Given the description of an element on the screen output the (x, y) to click on. 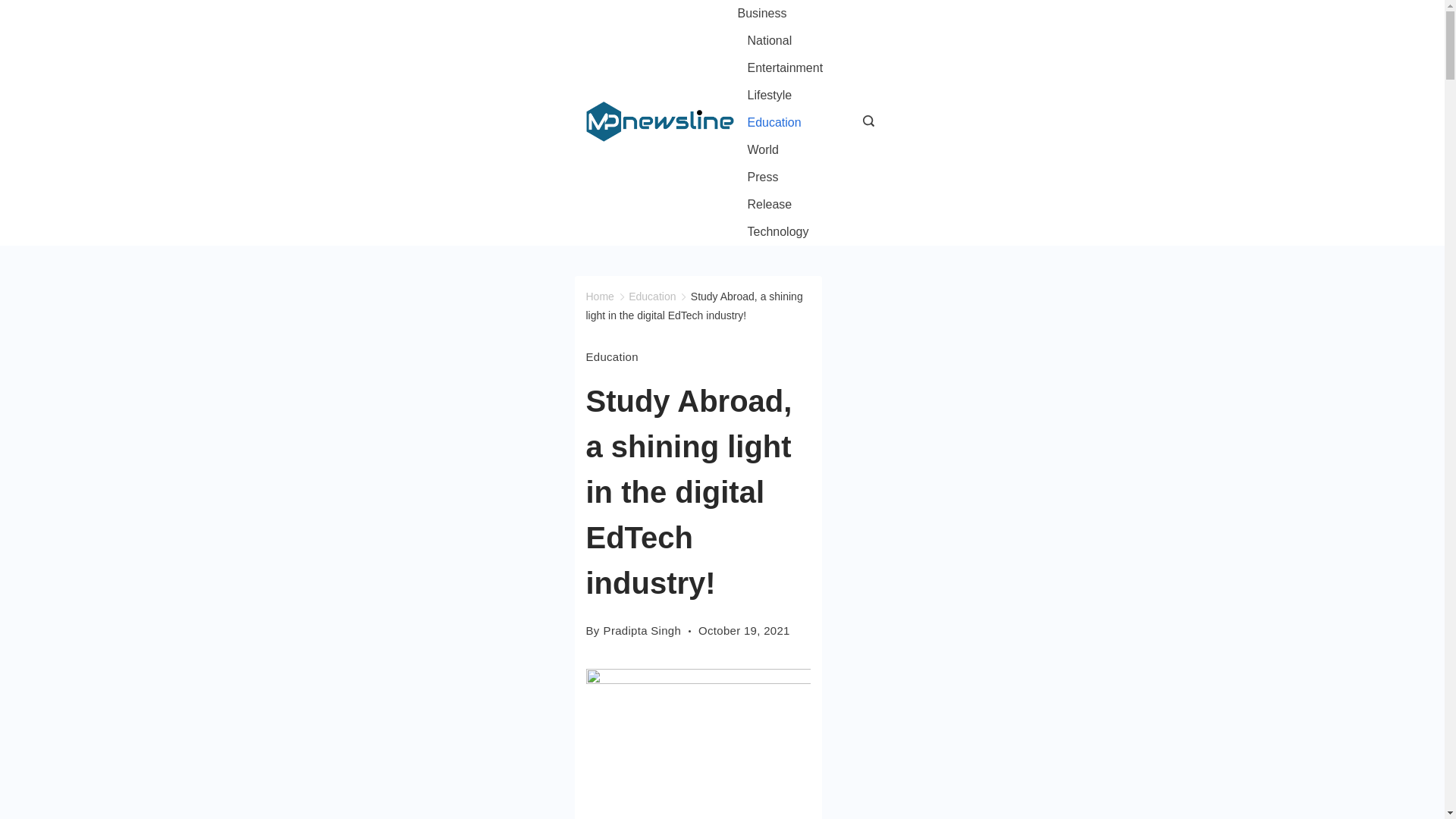
Press Release (784, 190)
Home (598, 296)
Education (651, 296)
Education (611, 356)
Lifestyle (769, 94)
Business (766, 13)
Education (773, 122)
Pradipta Singh (642, 630)
Entertainment (784, 67)
National (769, 40)
World (762, 149)
Technology (772, 231)
